Given the description of an element on the screen output the (x, y) to click on. 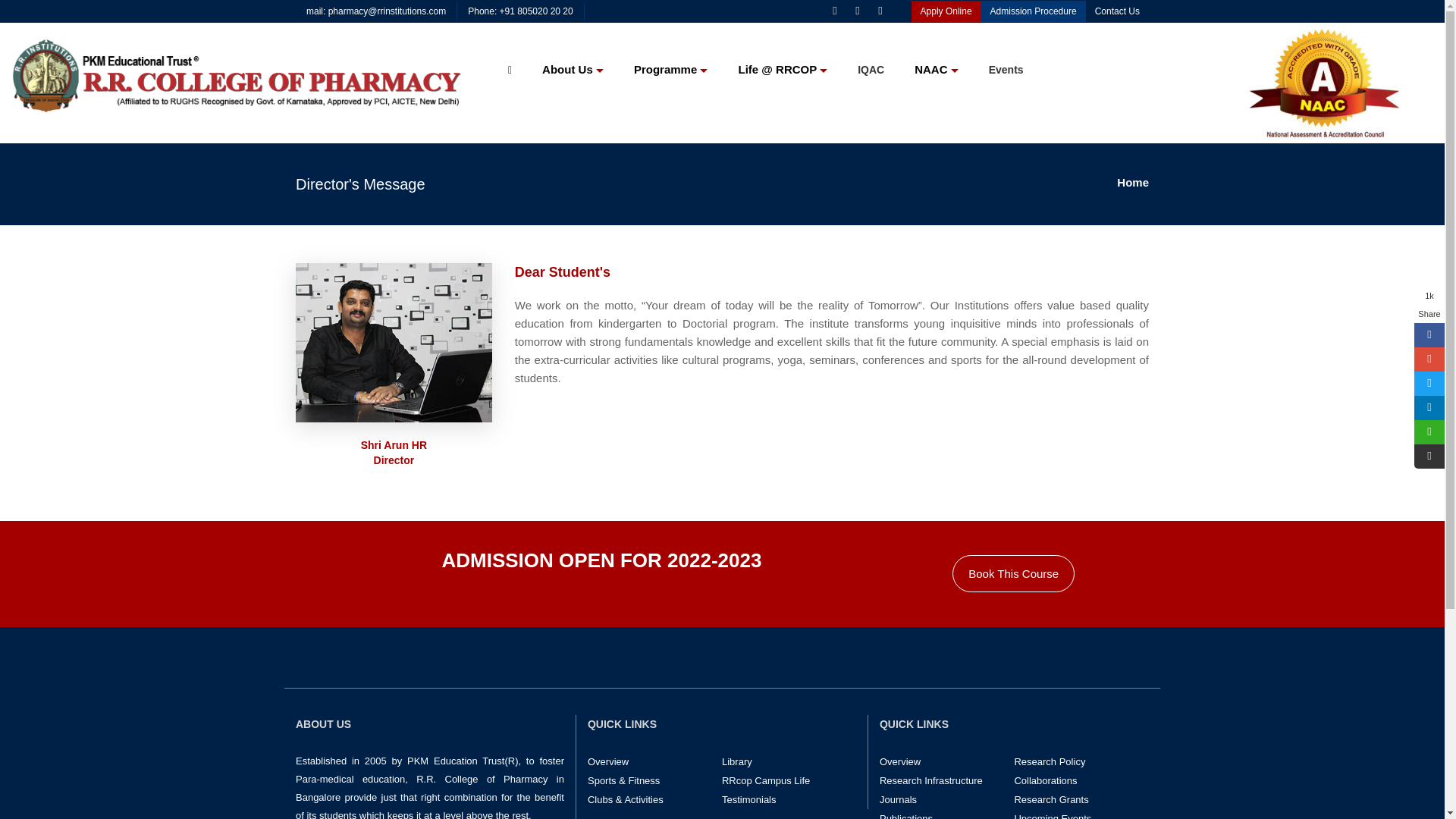
NAAC (936, 57)
IQAC (871, 57)
About Us (572, 57)
Programme (670, 57)
Home (1132, 181)
Events (1006, 57)
Contact Us (1117, 11)
Admission Procedure (1033, 11)
Apply Online (946, 11)
